Given the description of an element on the screen output the (x, y) to click on. 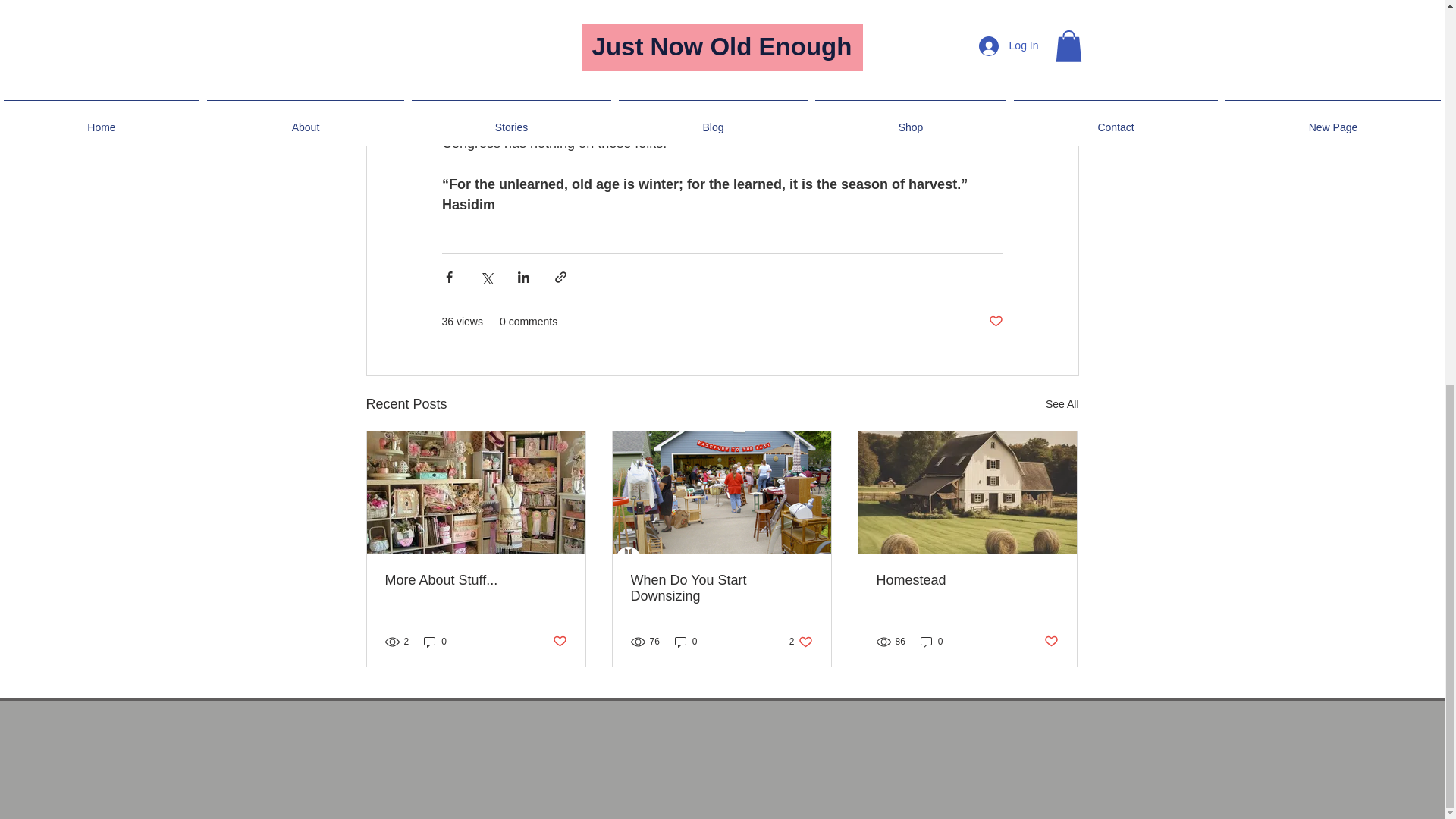
0 (931, 641)
Post not marked as liked (800, 641)
0 (995, 321)
0 (685, 641)
When Do You Start Downsizing (435, 641)
Post not marked as liked (721, 588)
Homestead (558, 641)
Post not marked as liked (967, 580)
See All (1050, 641)
More About Stuff... (1061, 404)
